Given the description of an element on the screen output the (x, y) to click on. 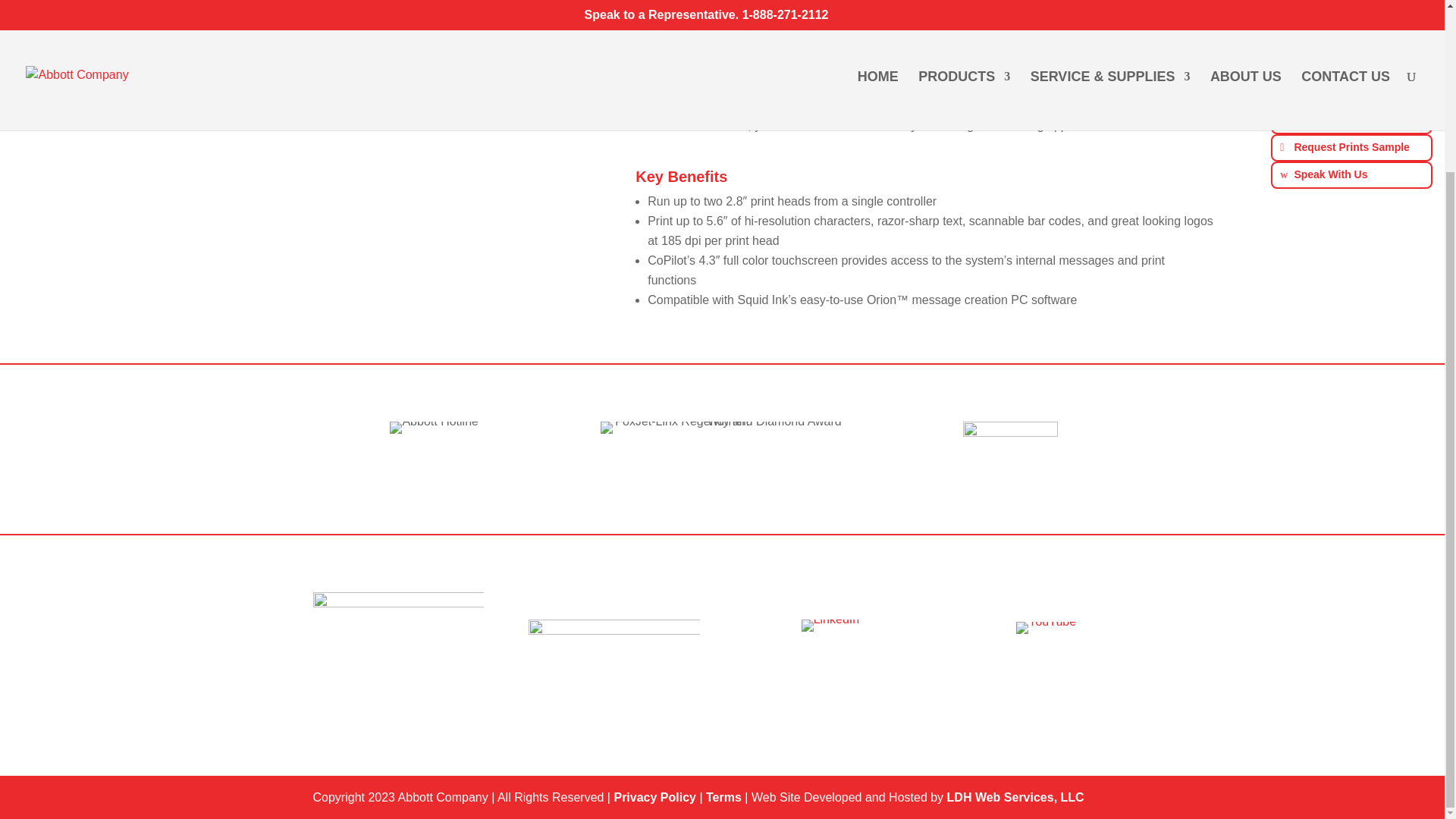
Foxjet Award (721, 427)
LDH Web Services, LLC (1015, 797)
Speak With Us (1351, 175)
BBB-Logo-500x256 (398, 635)
Abbott-100-logo (1010, 457)
LinkedIn (831, 625)
Download PDF (1351, 92)
Terms (723, 797)
Privacy Policy (653, 797)
Squid copilot-500 (295, 57)
